Given the description of an element on the screen output the (x, y) to click on. 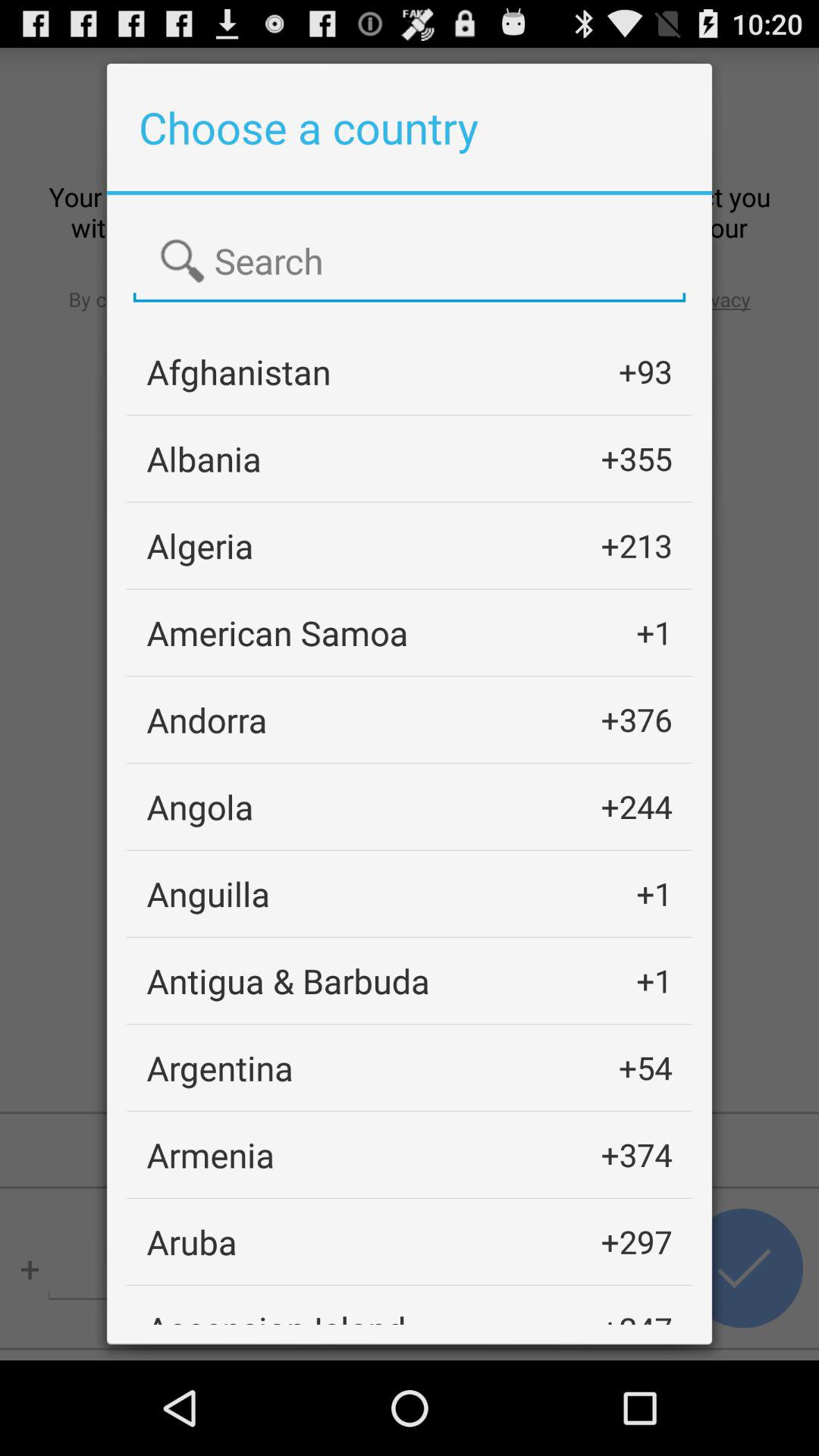
turn off the armenia item (210, 1154)
